Given the description of an element on the screen output the (x, y) to click on. 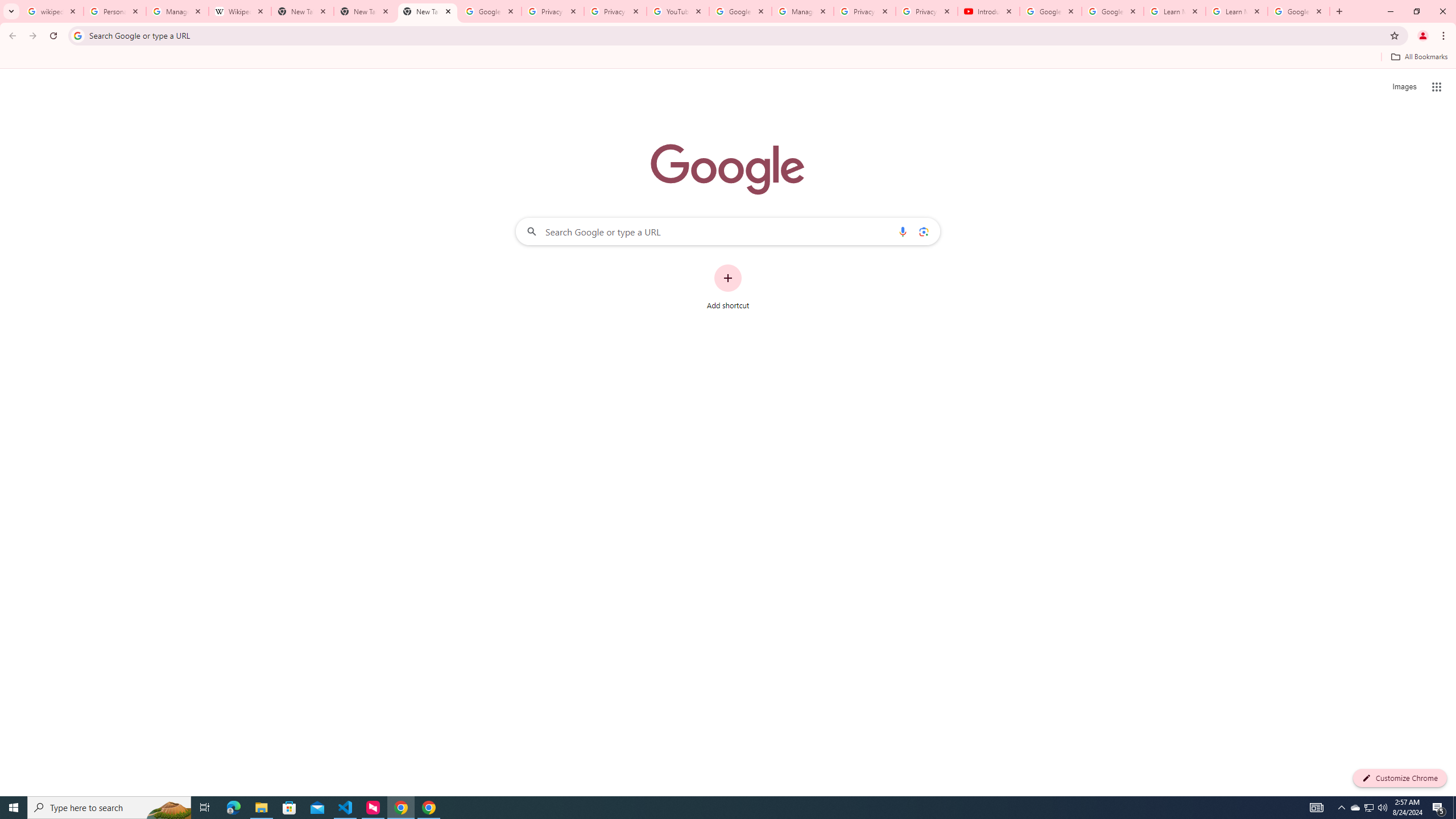
Search by voice (902, 230)
